Given the description of an element on the screen output the (x, y) to click on. 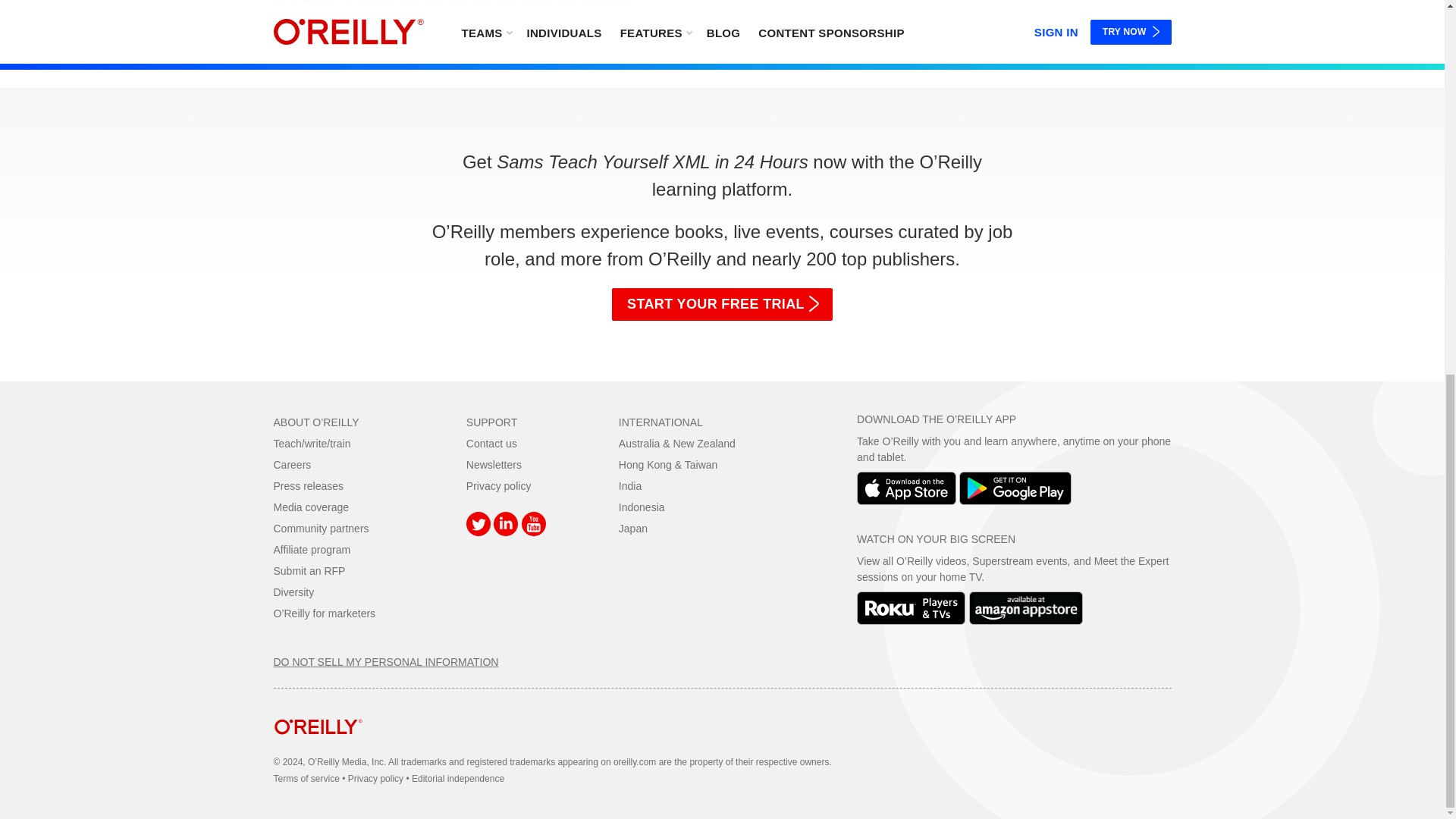
Community partners (320, 528)
Privacy policy (498, 485)
home page (317, 745)
Press releases (308, 485)
Newsletters (493, 464)
Careers (292, 464)
START YOUR FREE TRIAL (721, 304)
Affiliate program (311, 549)
Contact us (490, 443)
Diversity (293, 592)
Submit an RFP (309, 571)
SUPPORT (490, 422)
Media coverage (311, 507)
